Given the description of an element on the screen output the (x, y) to click on. 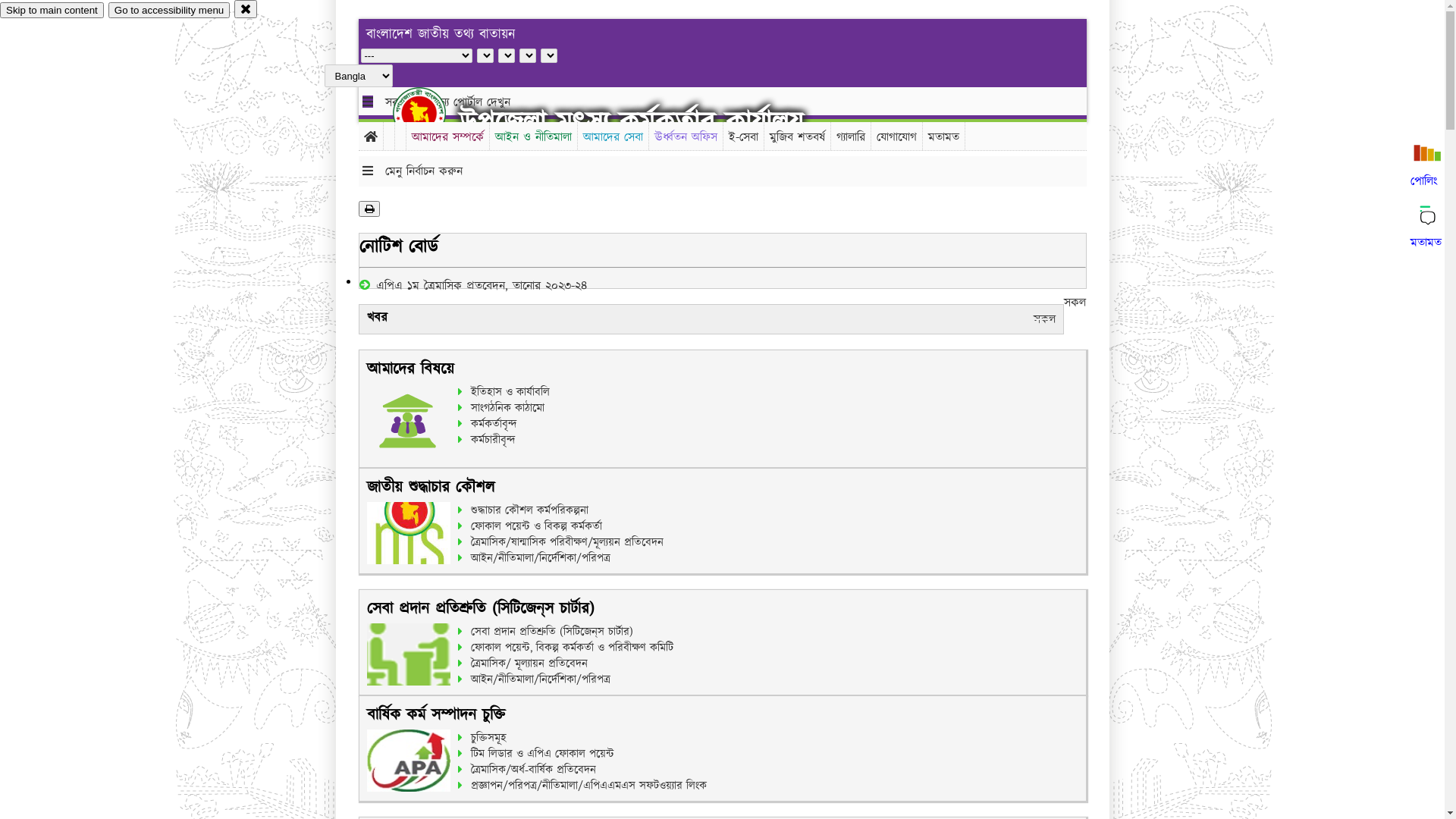

                
             Element type: hover (431, 112)
Skip to main content Element type: text (51, 10)
Go to accessibility menu Element type: text (168, 10)
close Element type: hover (245, 9)
